Given the description of an element on the screen output the (x, y) to click on. 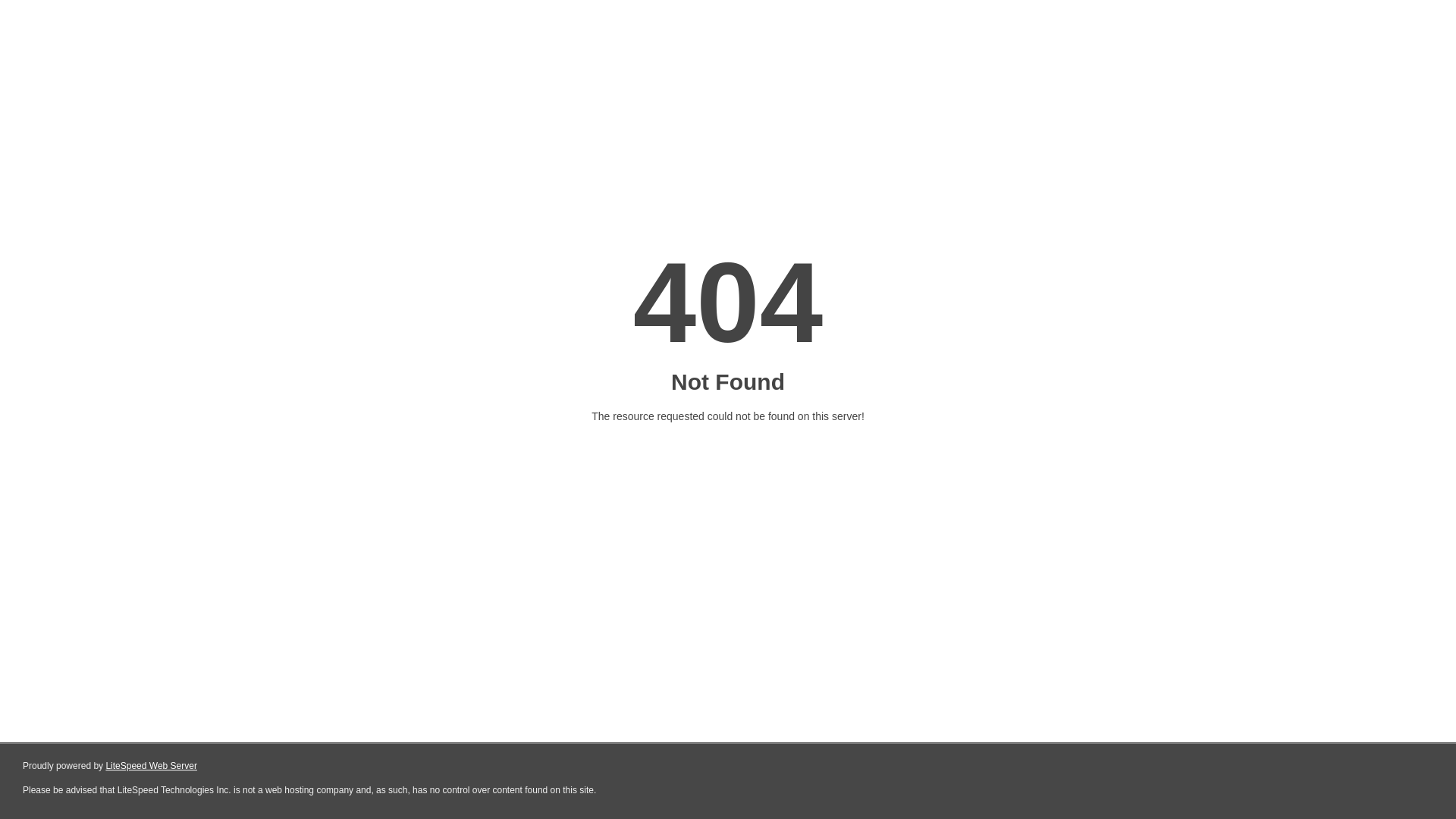
LiteSpeed Web Server Element type: text (151, 765)
